Given the description of an element on the screen output the (x, y) to click on. 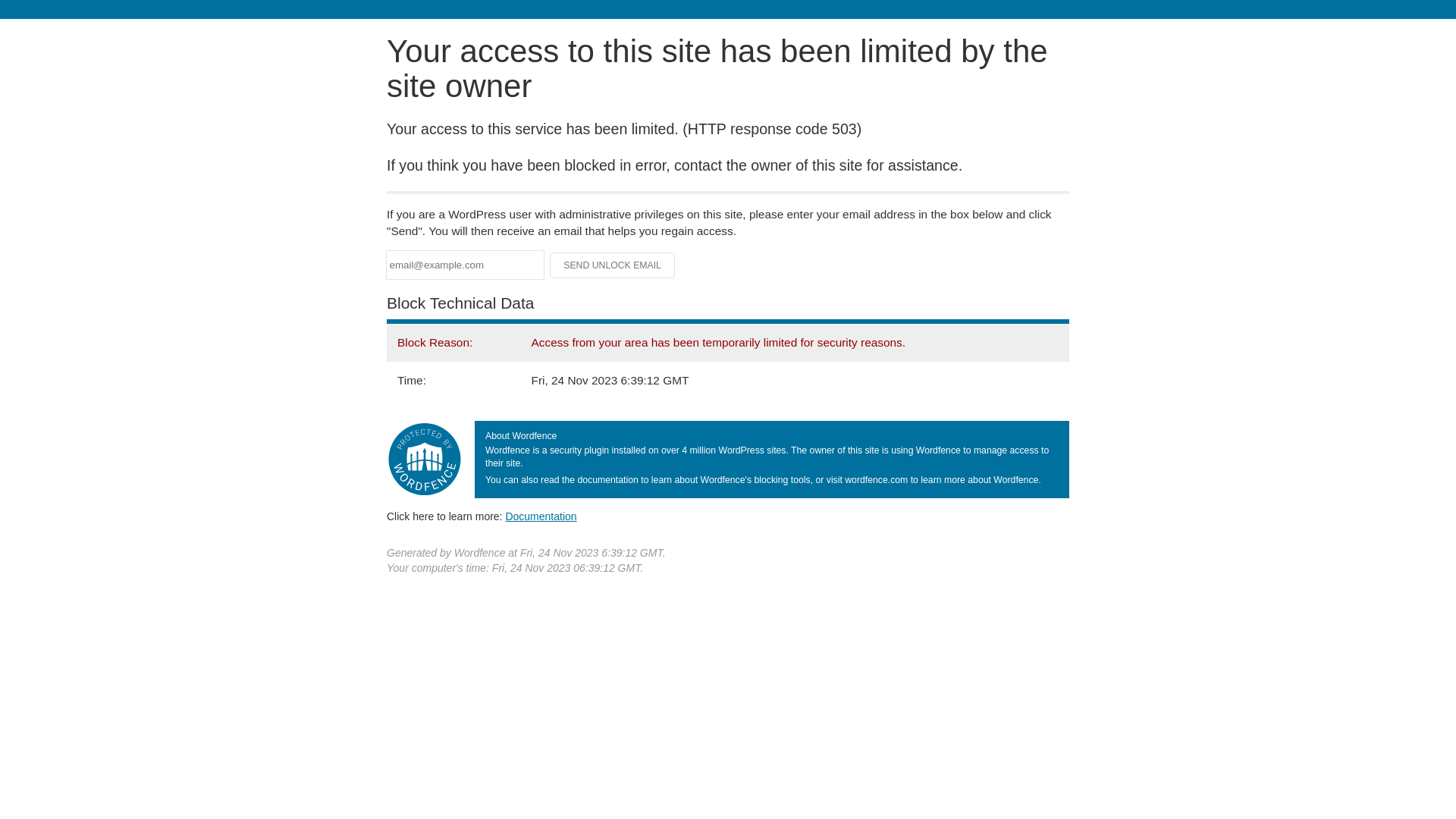
Send Unlock Email Element type: text (612, 265)
Documentation Element type: text (540, 516)
